Given the description of an element on the screen output the (x, y) to click on. 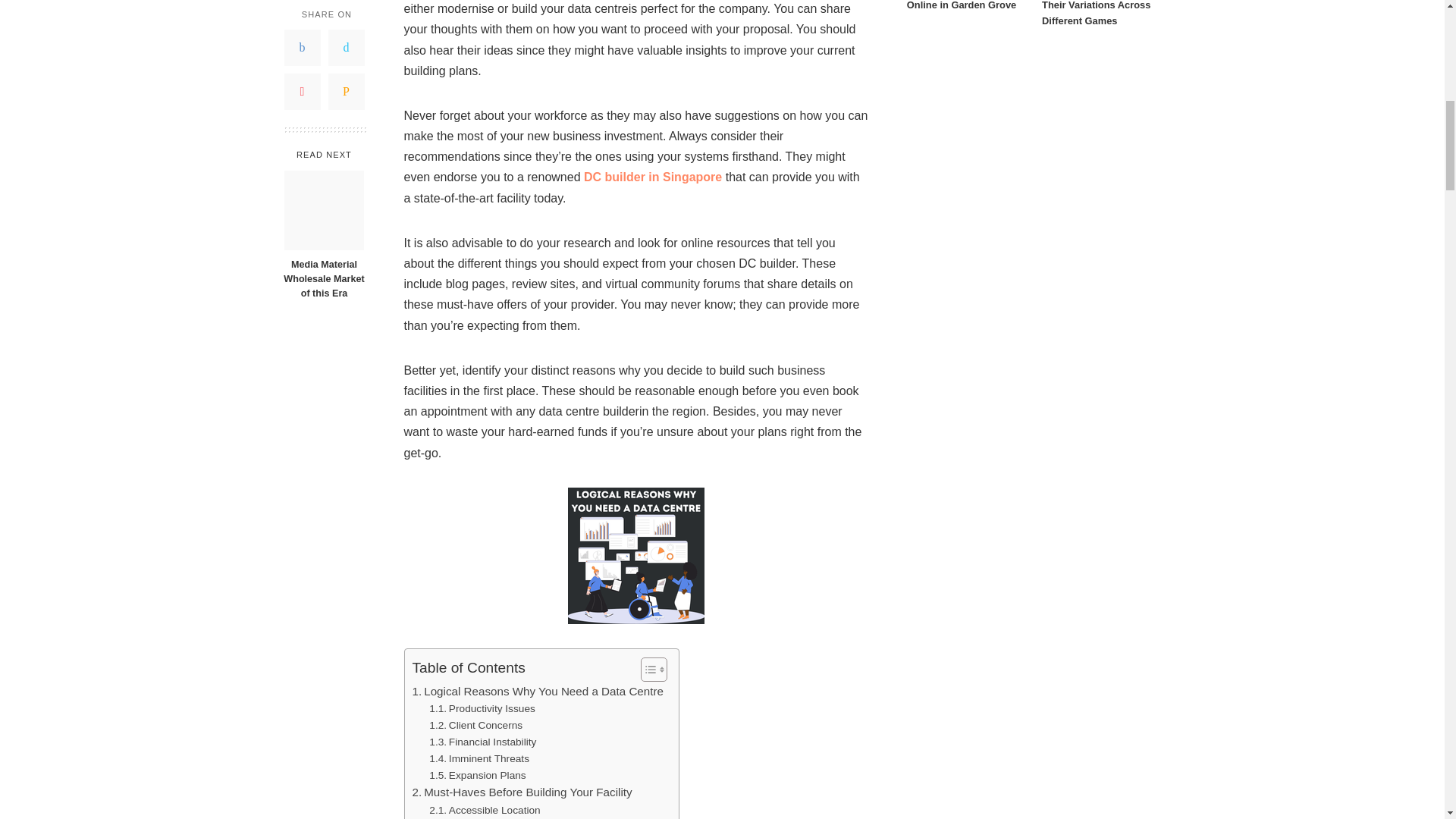
Media Material Wholesale Market of this Era (323, 53)
DC builder in Singapore (652, 176)
Imminent Threats (479, 759)
Media Material Wholesale Market of this Era (323, 122)
Client Concerns (475, 725)
Logical Reasons Why You Need a Data Centre (537, 691)
Media Material Wholesale Market of this Era (323, 122)
Financial Instability (482, 742)
Productivity Issues (482, 709)
Expansion Plans (477, 775)
